Given the description of an element on the screen output the (x, y) to click on. 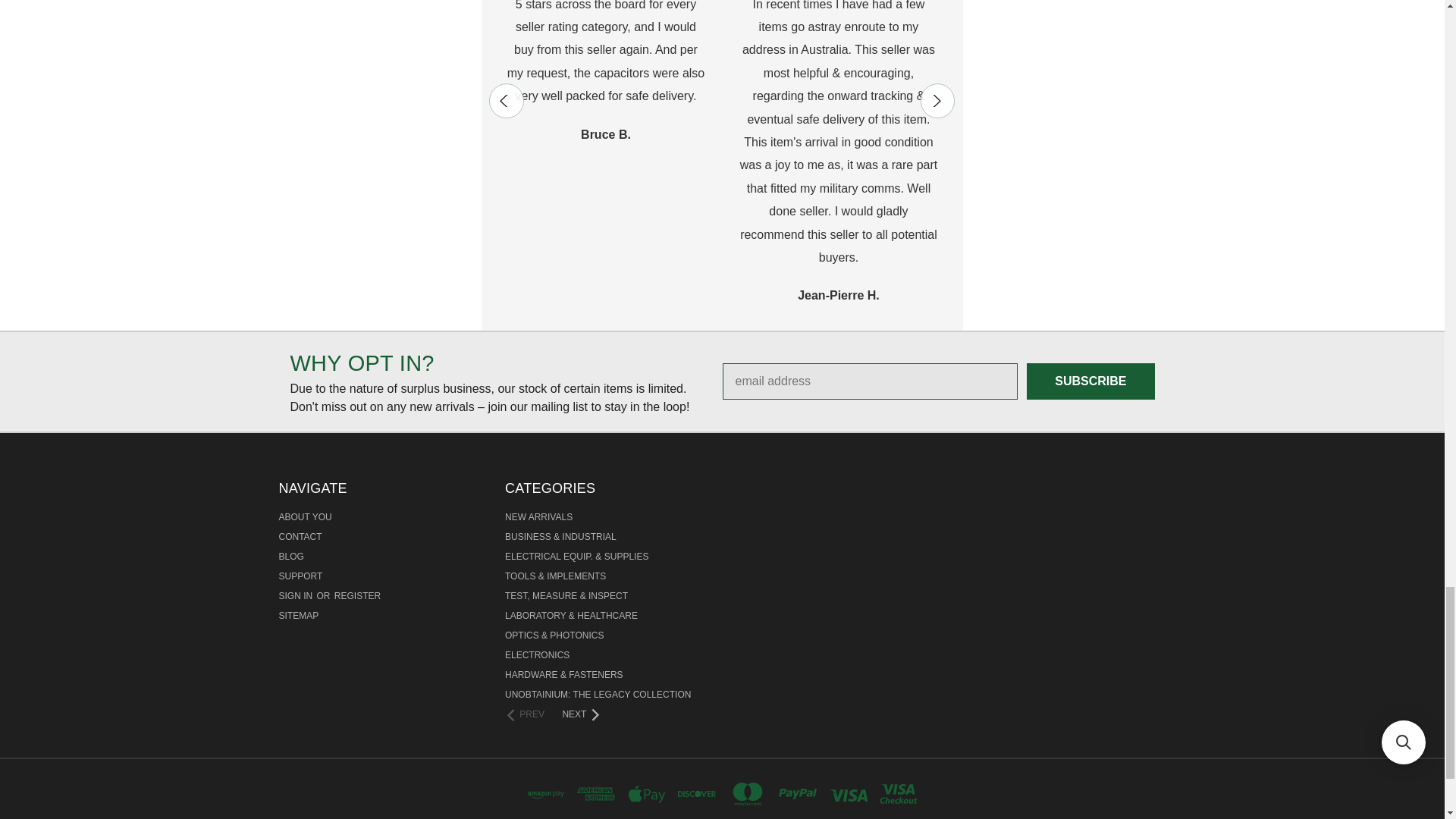
Subscribe (1090, 381)
